Given the description of an element on the screen output the (x, y) to click on. 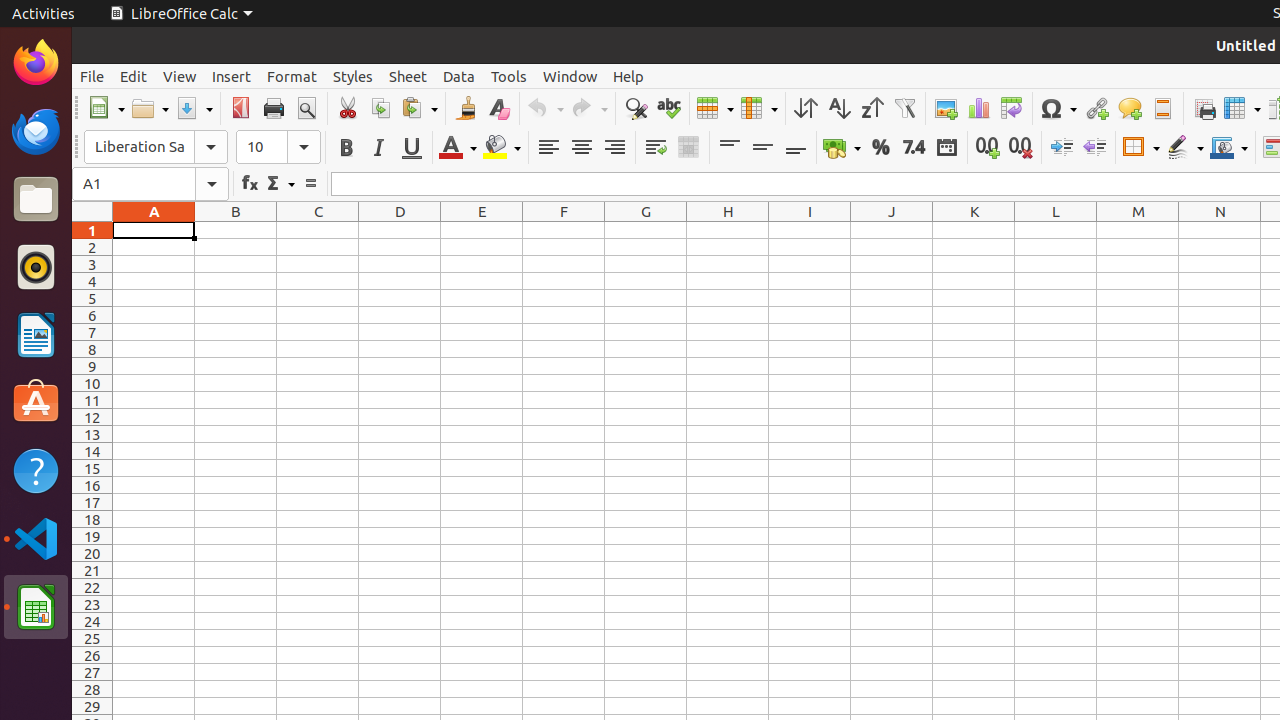
Save Element type: push-button (194, 108)
Column Element type: push-button (759, 108)
E1 Element type: table-cell (482, 230)
Align Left Element type: push-button (548, 147)
Date Element type: push-button (946, 147)
